Given the description of an element on the screen output the (x, y) to click on. 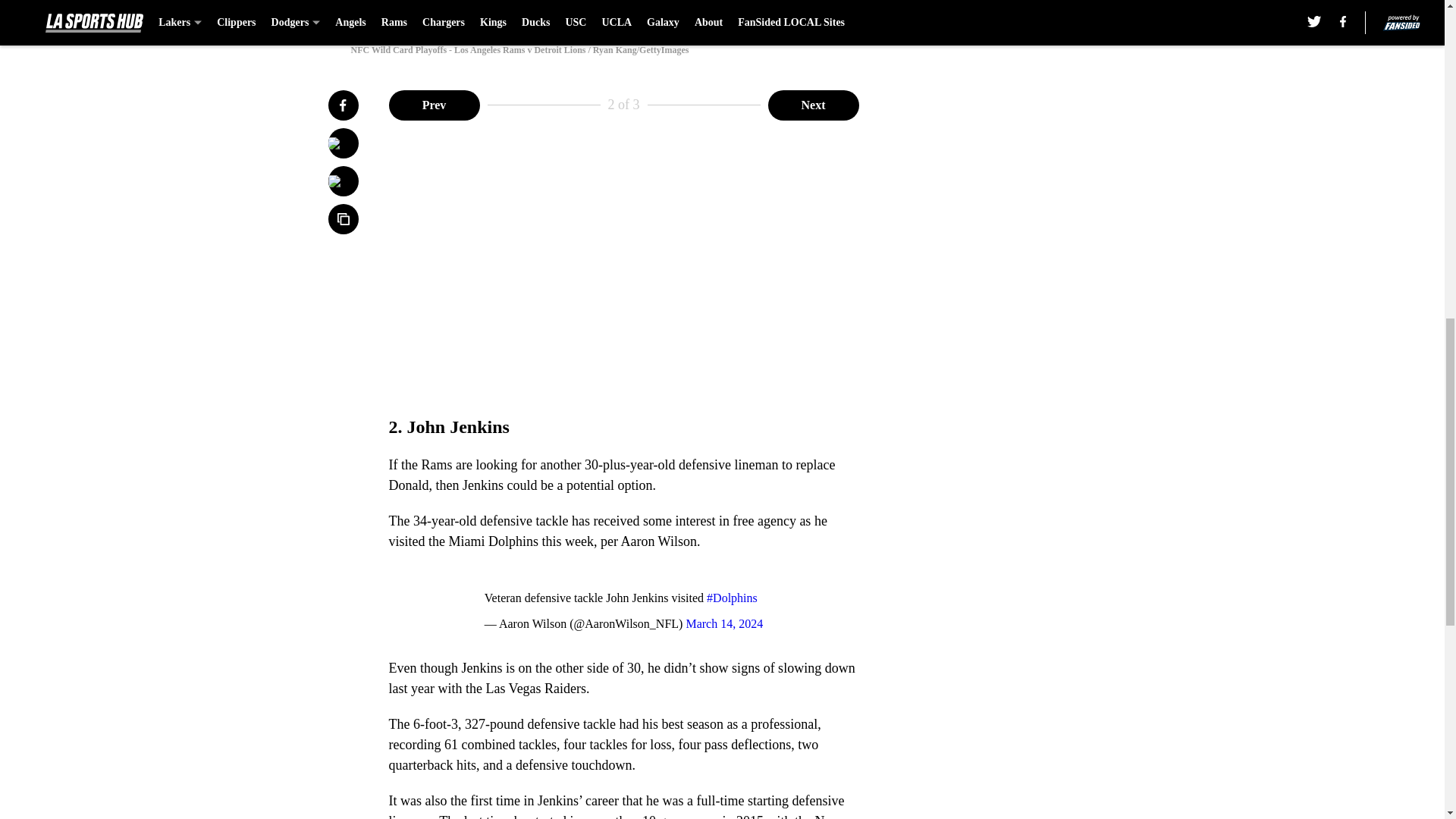
March 14, 2024 (723, 623)
Prev (433, 104)
NFC Wild Card Playoffs - Los Angeles Rams v Detroit Lions (721, 14)
Next (813, 104)
